Given the description of an element on the screen output the (x, y) to click on. 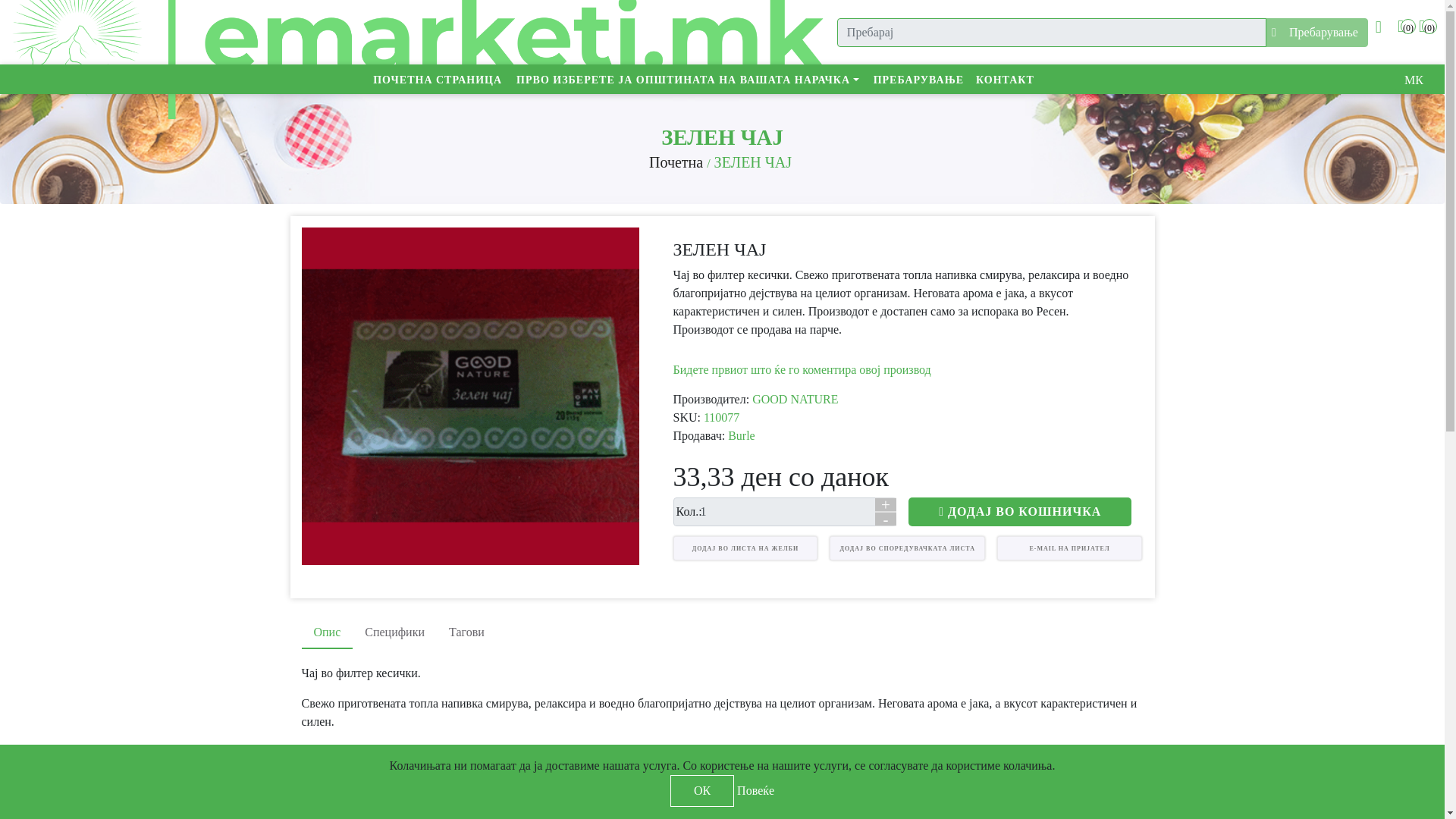
1 (784, 511)
